Given the description of an element on the screen output the (x, y) to click on. 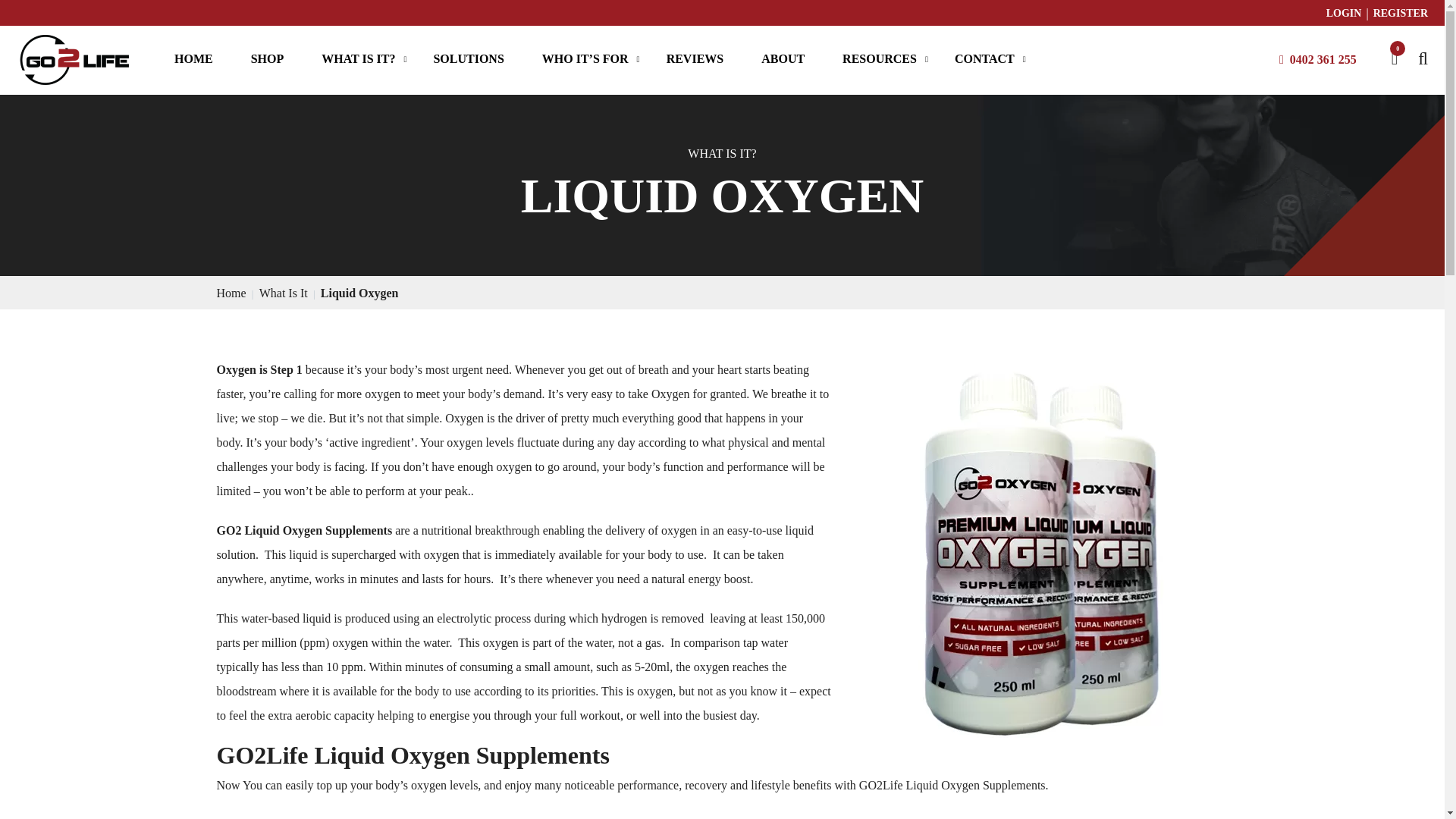
ABOUT (783, 59)
SHOP (266, 59)
HOME (193, 59)
LOGIN (1343, 13)
SOLUTIONS (467, 59)
CONTACT (984, 59)
RESOURCES (880, 59)
0402 361 255 (1322, 58)
WHAT IS IT? (357, 59)
REGISTER (1400, 13)
REVIEWS (694, 59)
